Given the description of an element on the screen output the (x, y) to click on. 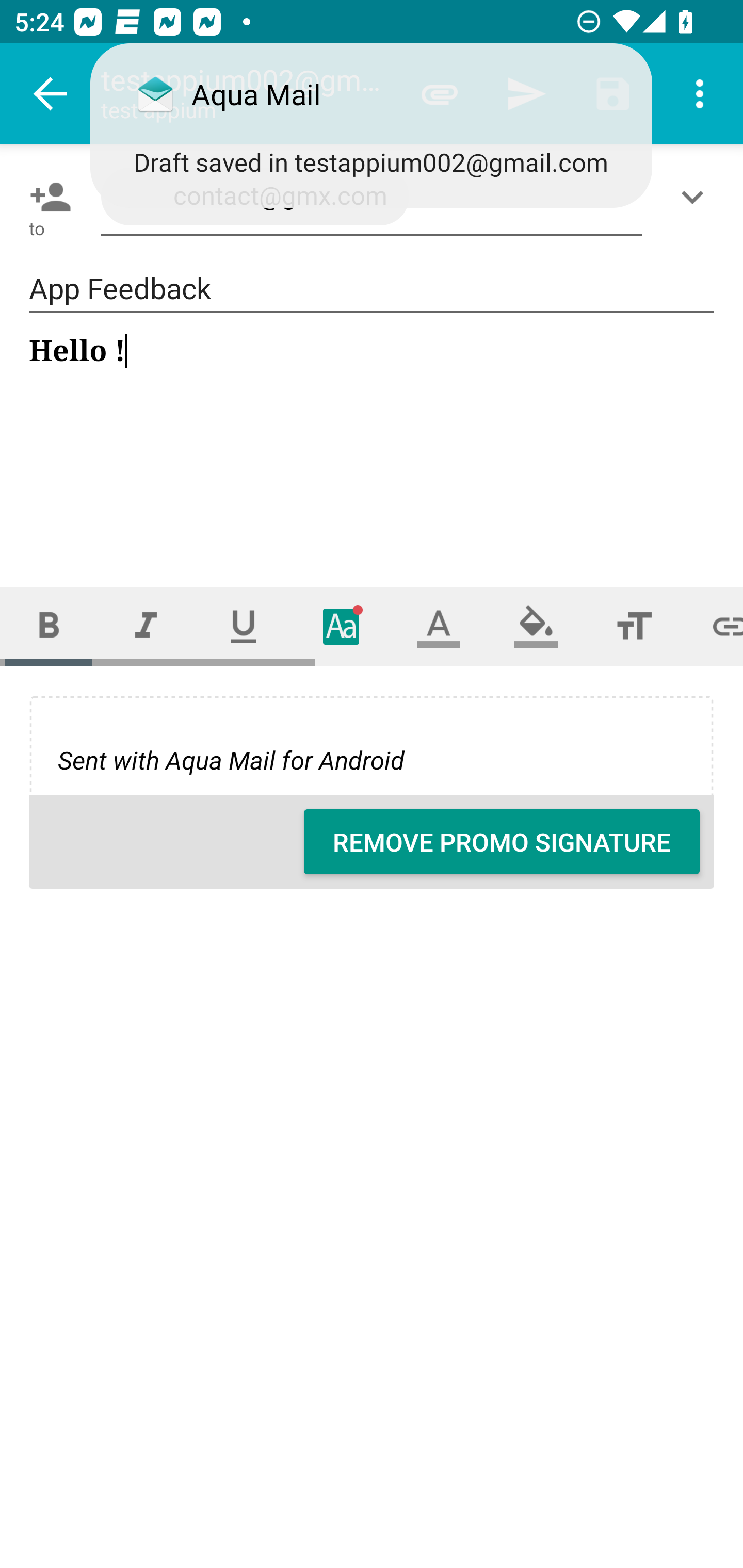
Navigate up (50, 93)
More options (699, 93)
Pick contact: To (46, 196)
Show/Add CC/BCC (696, 196)
App Feedback (371, 288)
Hello ! (372, 442)
Bold (48, 626)
Italic (145, 626)
Underline (243, 626)
Typeface (font) (341, 626)
Text color (438, 626)
Fill color (536, 626)
Font size (633, 626)
Set link (712, 626)
REMOVE PROMO SIGNATURE (501, 841)
